Given the description of an element on the screen output the (x, y) to click on. 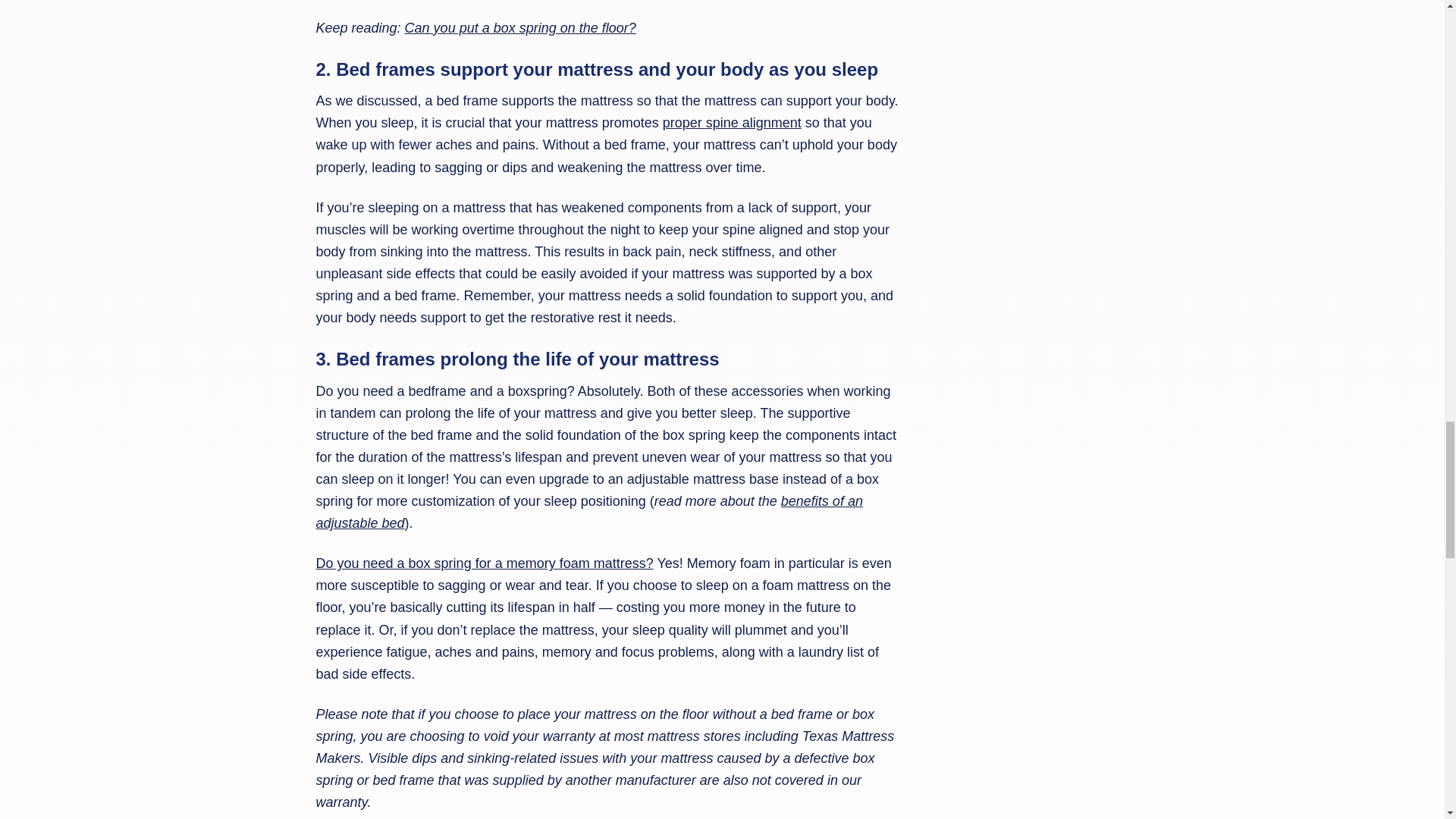
benefits of an adjustable bed (588, 511)
Can you put a box spring on the floor? (520, 28)
Do you need a box spring for a memory foam mattress? (483, 563)
proper spine alignment (732, 122)
